Given the description of an element on the screen output the (x, y) to click on. 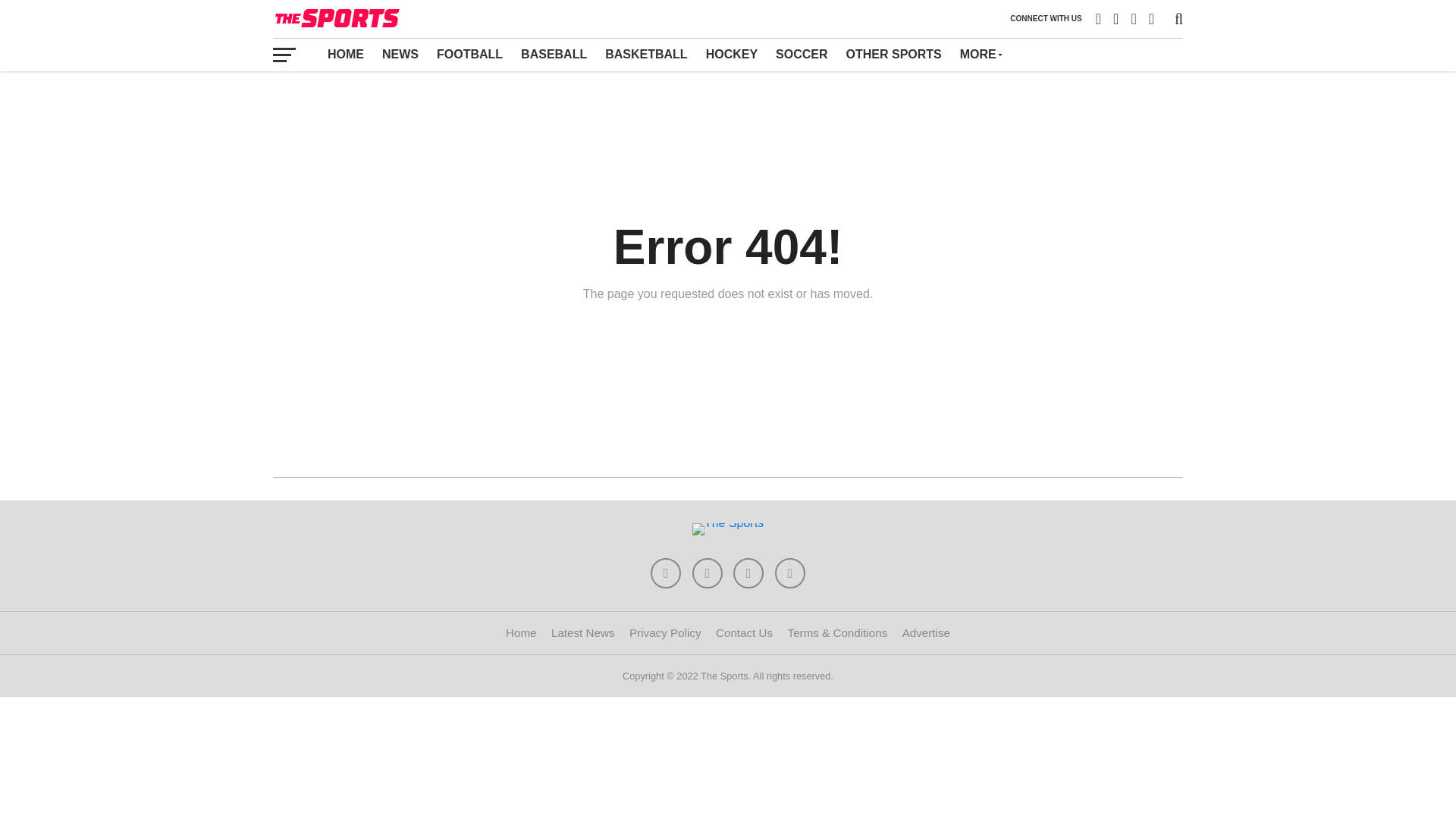
SOCCER (801, 54)
MORE (980, 54)
NEWS (400, 54)
HOCKEY (732, 54)
BASEBALL (553, 54)
HOME (345, 54)
FOOTBALL (470, 54)
Home (521, 632)
OTHER SPORTS (893, 54)
BASKETBALL (645, 54)
